Given the description of an element on the screen output the (x, y) to click on. 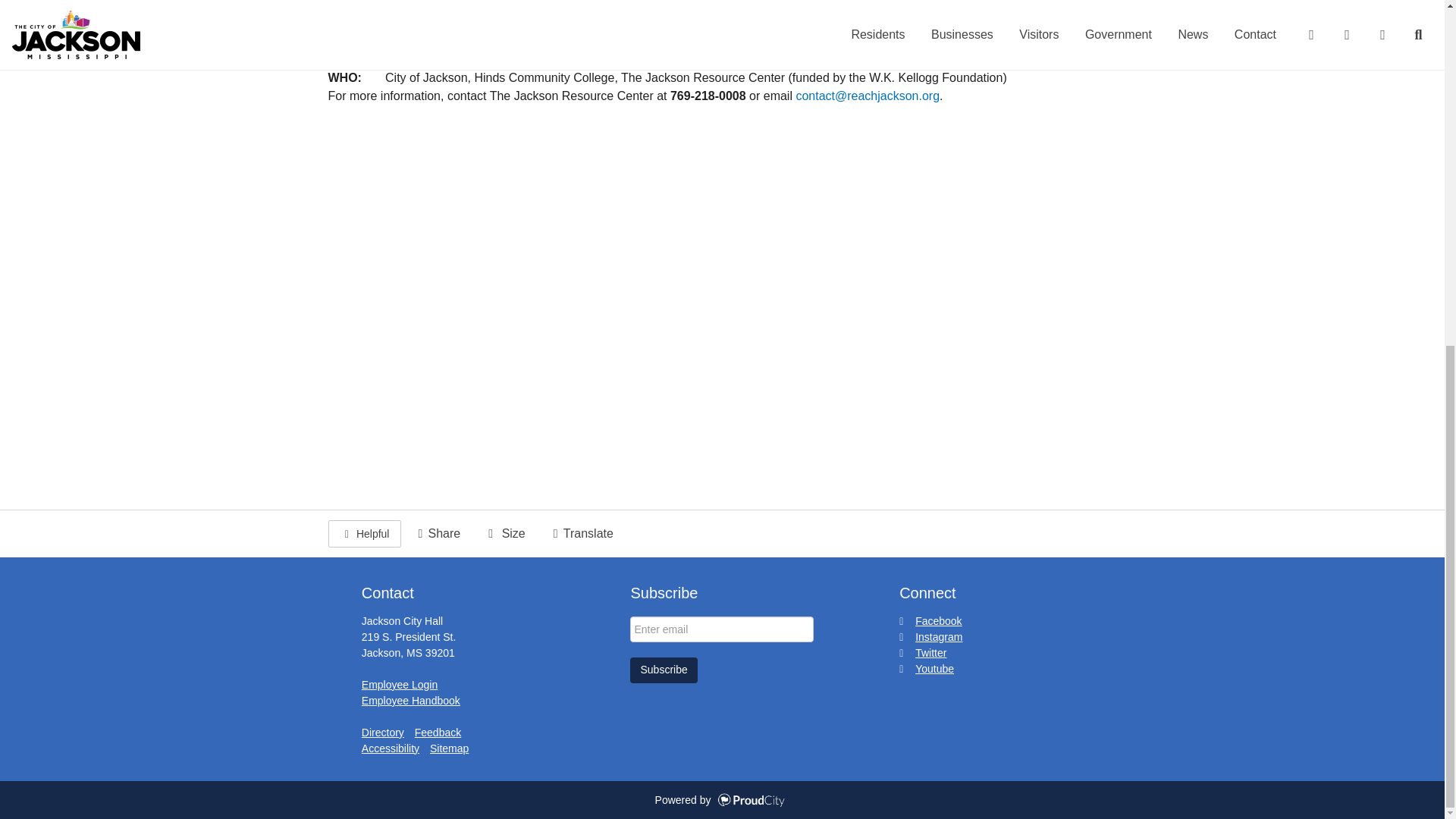
Employee Login (399, 684)
Subscribe (663, 670)
This page makes me proud (364, 533)
Sitemap (448, 748)
Accessibility (390, 748)
Feedback (437, 732)
Employee Handbook (410, 700)
Directory (382, 732)
Helpful (364, 533)
Share (436, 533)
